Given the description of an element on the screen output the (x, y) to click on. 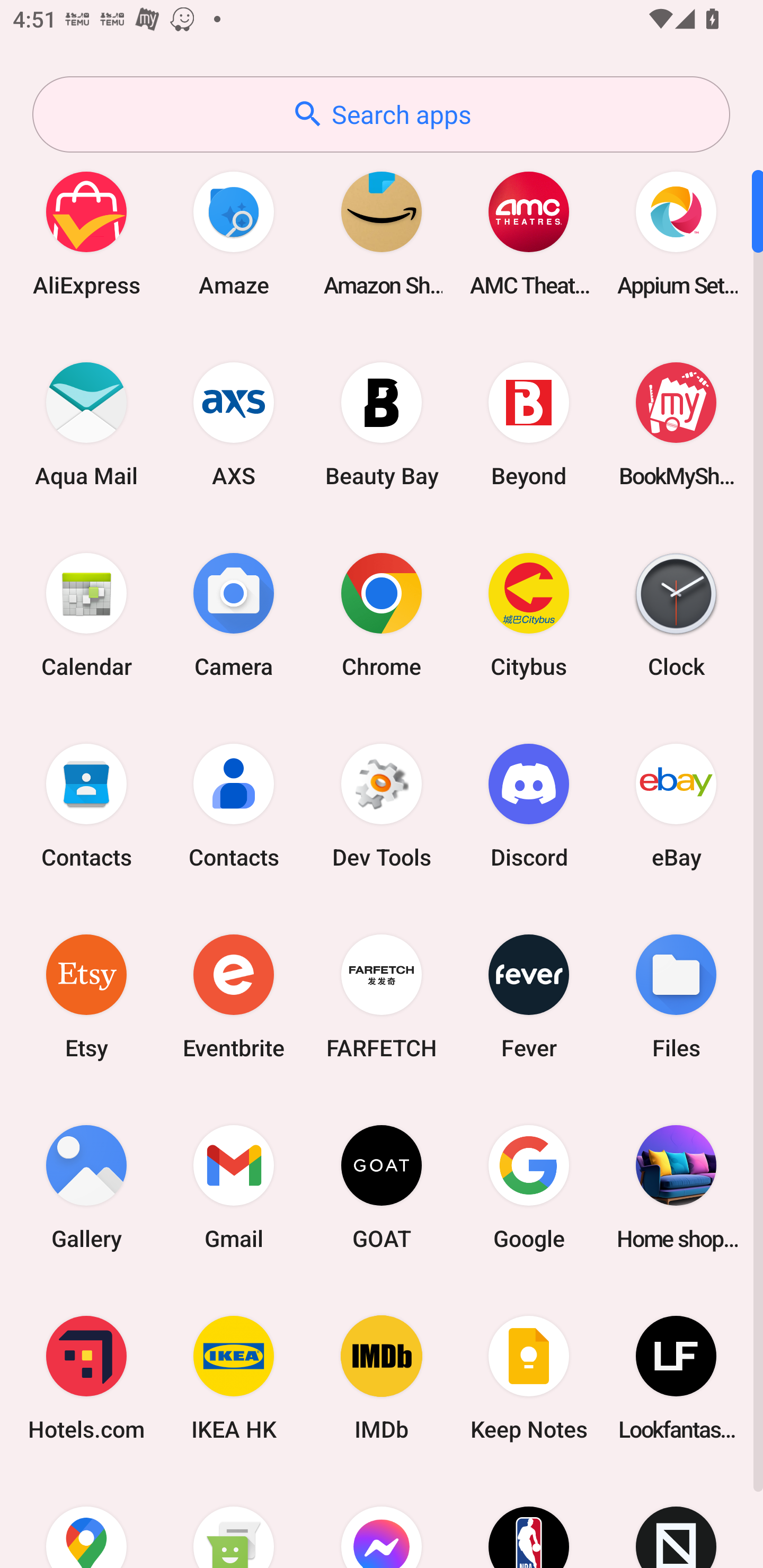
  Search apps (381, 114)
AliExpress (86, 233)
Amaze (233, 233)
Amazon Shopping (381, 233)
AMC Theatres (528, 233)
Appium Settings (676, 233)
Aqua Mail (86, 424)
AXS (233, 424)
Beauty Bay (381, 424)
Beyond (528, 424)
BookMyShow (676, 424)
Calendar (86, 614)
Camera (233, 614)
Chrome (381, 614)
Citybus (528, 614)
Clock (676, 614)
Contacts (86, 805)
Contacts (233, 805)
Dev Tools (381, 805)
Discord (528, 805)
eBay (676, 805)
Etsy (86, 996)
Eventbrite (233, 996)
FARFETCH (381, 996)
Fever (528, 996)
Files (676, 996)
Gallery (86, 1186)
Gmail (233, 1186)
GOAT (381, 1186)
Google (528, 1186)
Home shopping (676, 1186)
Hotels.com (86, 1377)
IKEA HK (233, 1377)
IMDb (381, 1377)
Keep Notes (528, 1377)
Lookfantastic (676, 1377)
Maps (86, 1520)
Messaging (233, 1520)
Messenger (381, 1520)
NBA (528, 1520)
Novelship (676, 1520)
